Given the description of an element on the screen output the (x, y) to click on. 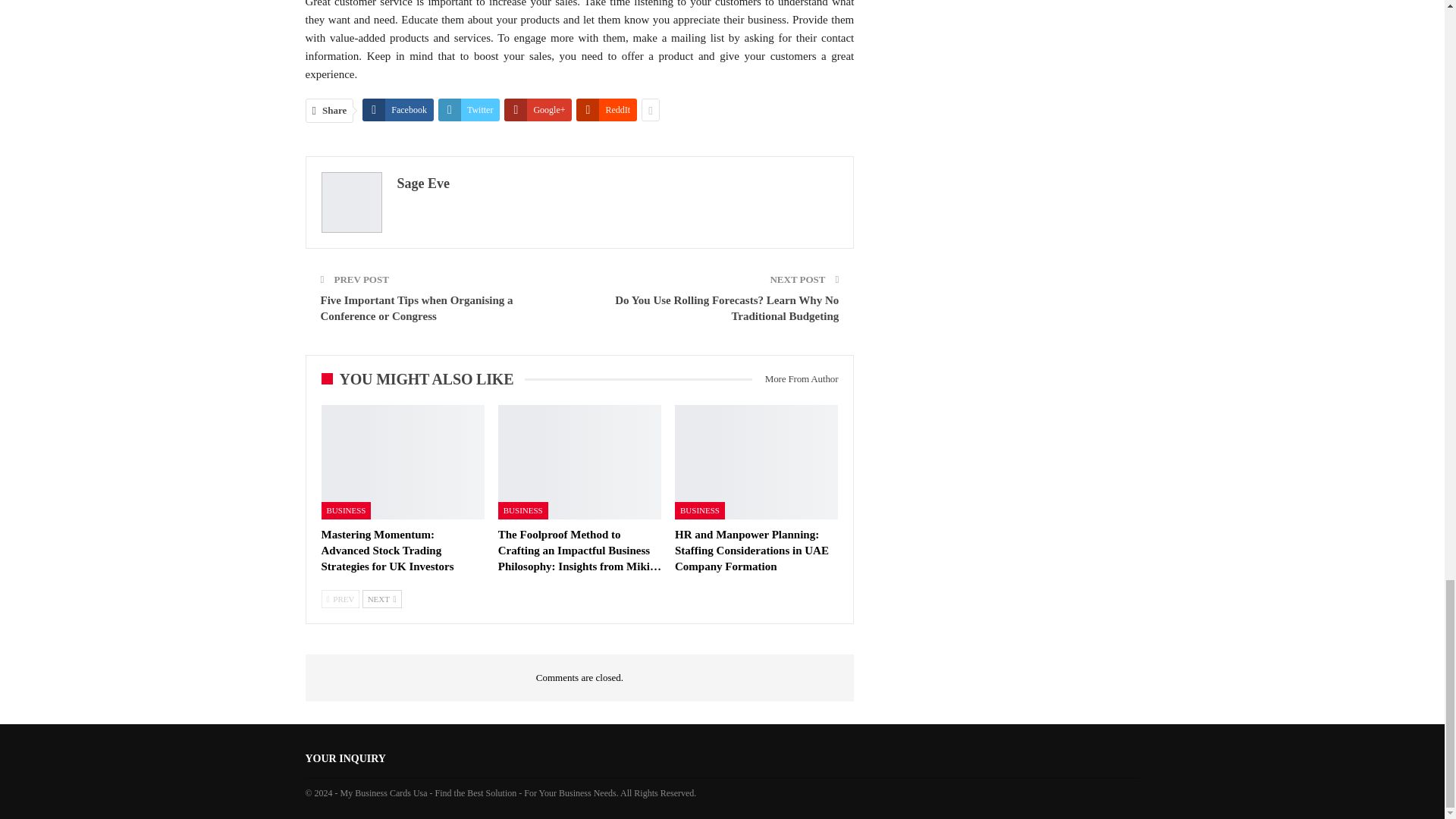
Previous (340, 598)
Next (381, 598)
